Given the description of an element on the screen output the (x, y) to click on. 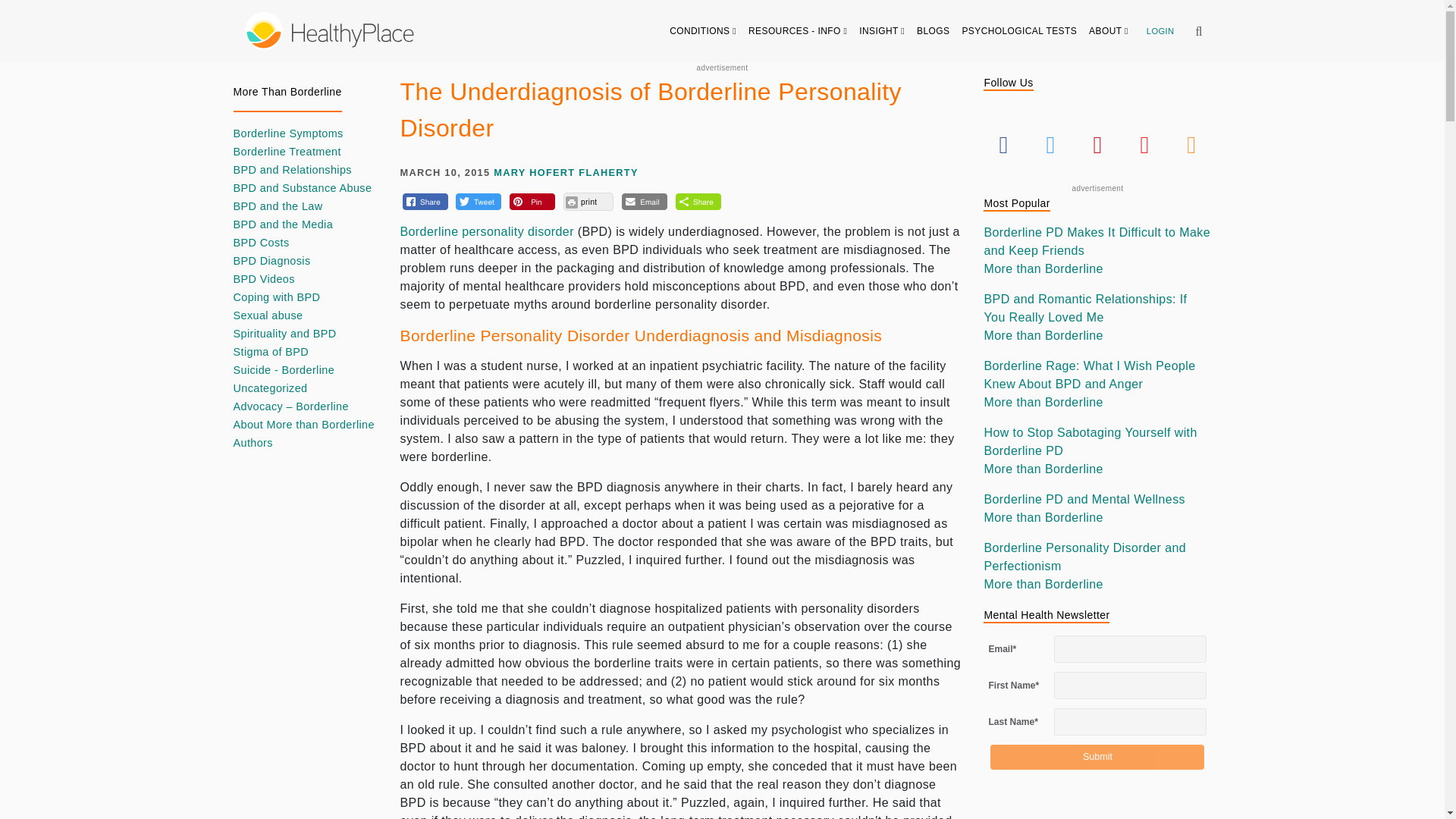
What is Borderline Personality Disorder? (486, 231)
Submit (1097, 756)
INSIGHT (882, 31)
RESOURCES - INFO (797, 31)
CONDITIONS (702, 31)
